Given the description of an element on the screen output the (x, y) to click on. 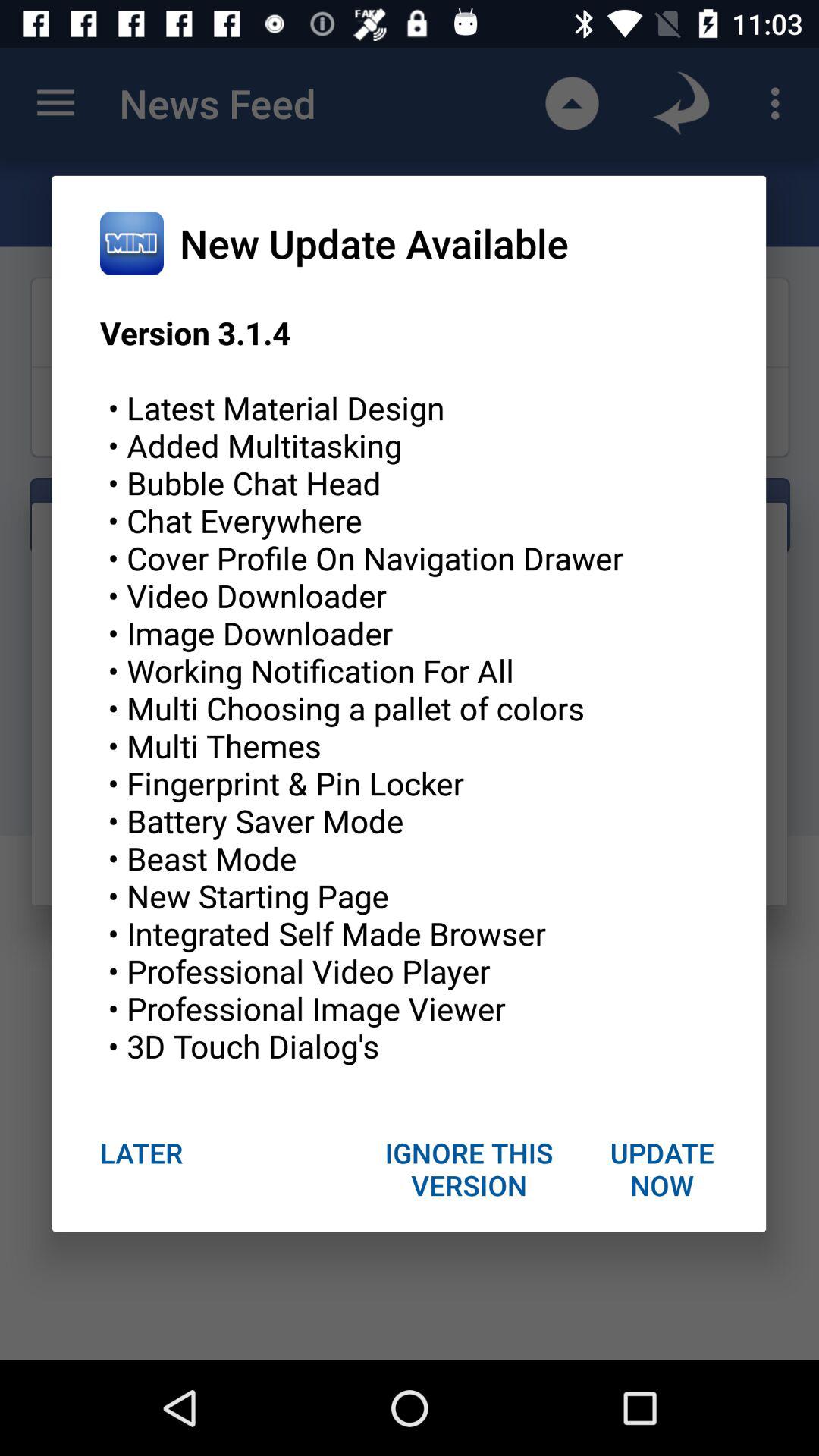
turn on item below the version 3 1 item (661, 1168)
